Given the description of an element on the screen output the (x, y) to click on. 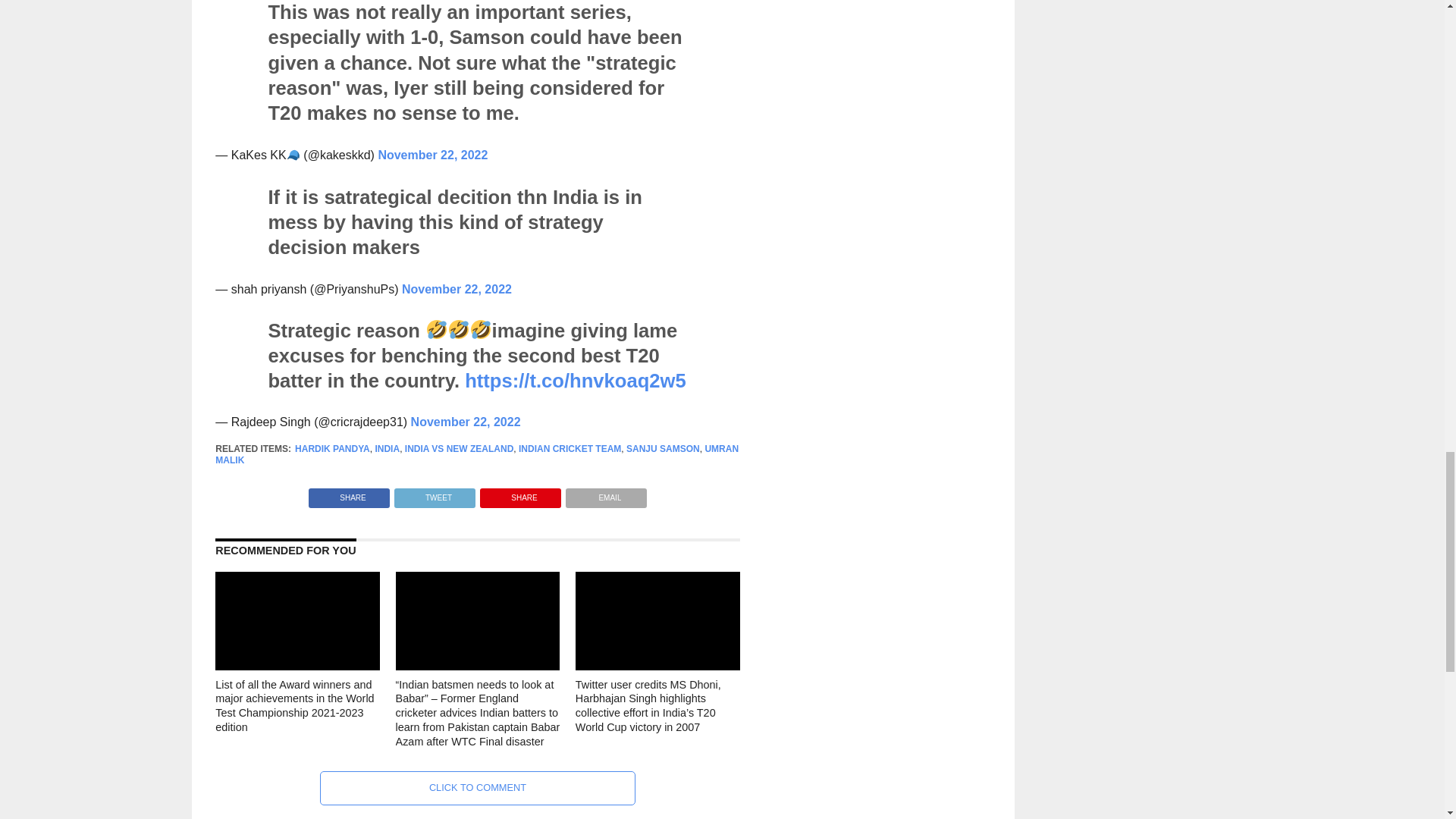
INDIA (386, 448)
UMRAN MALIK (476, 454)
INDIA VS NEW ZEALAND (458, 448)
November 22, 2022 (456, 288)
Share on Facebook (349, 493)
SHARE (520, 493)
HARDIK PANDYA (332, 448)
INDIAN CRICKET TEAM (569, 448)
SANJU SAMSON (663, 448)
TWEET (434, 493)
SHARE (349, 493)
November 22, 2022 (465, 421)
November 22, 2022 (432, 155)
Tweet This Post (434, 493)
